Given the description of an element on the screen output the (x, y) to click on. 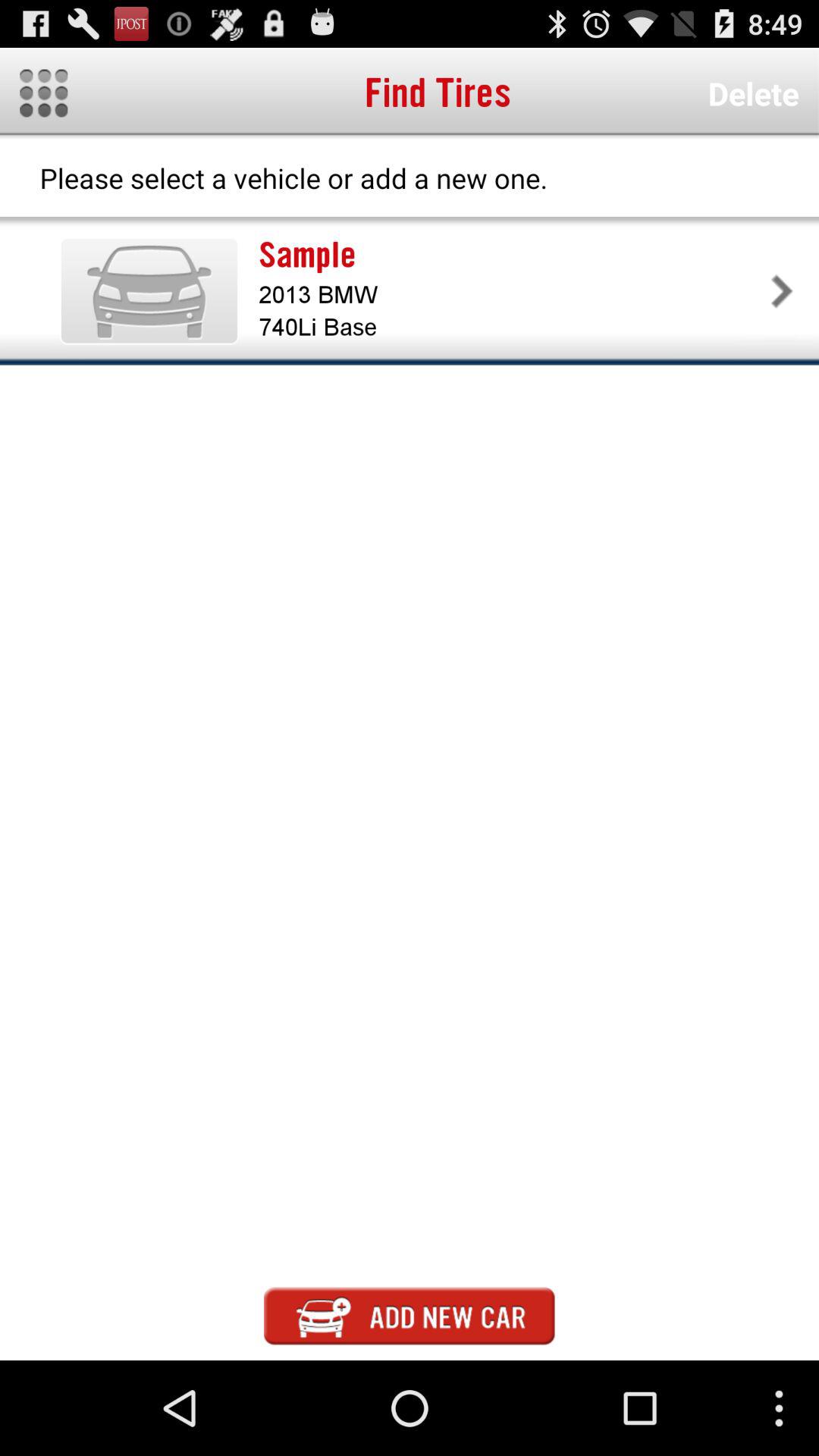
add another vehicle (409, 1316)
